Given the description of an element on the screen output the (x, y) to click on. 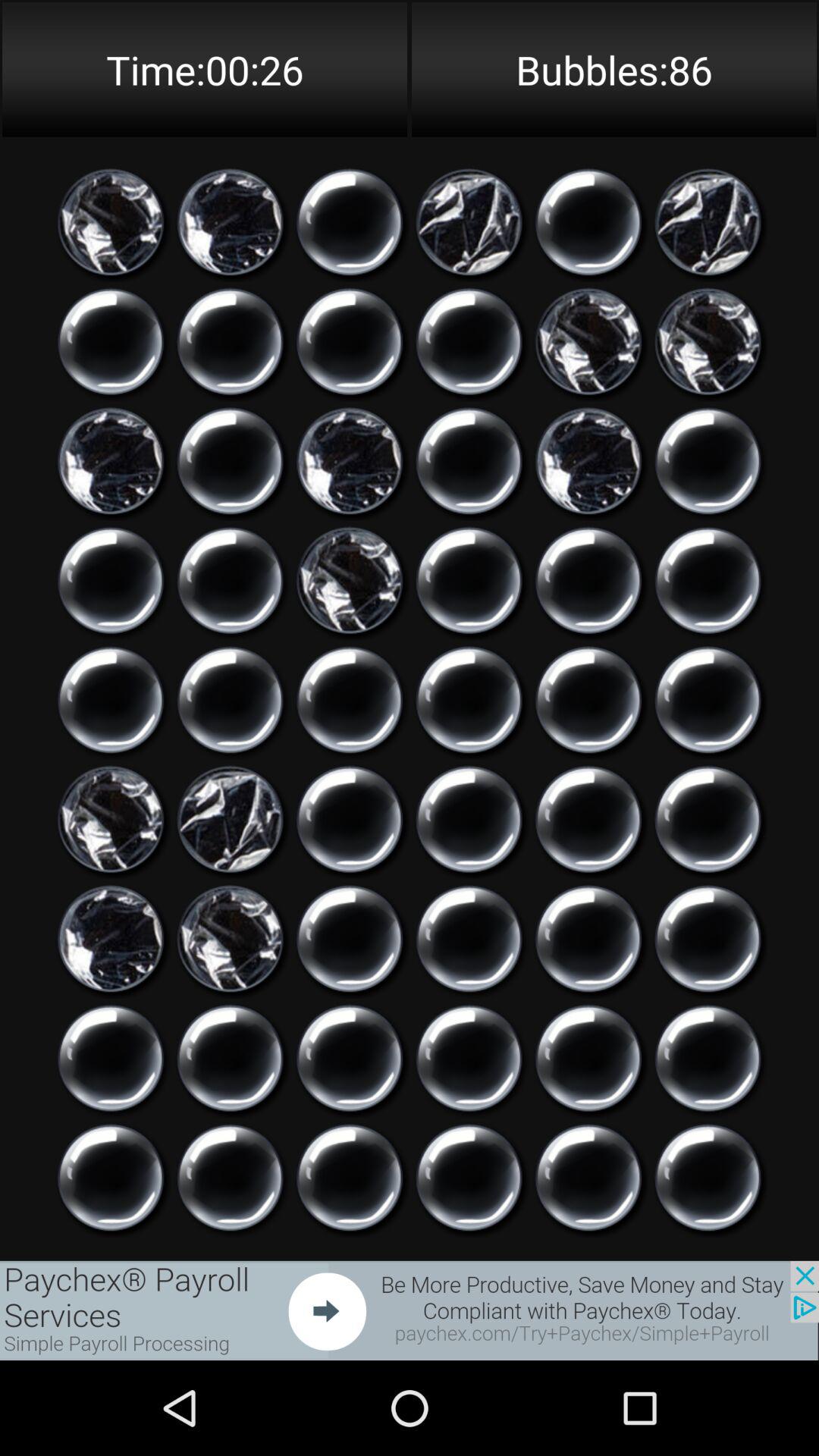
select game piece (588, 580)
